Given the description of an element on the screen output the (x, y) to click on. 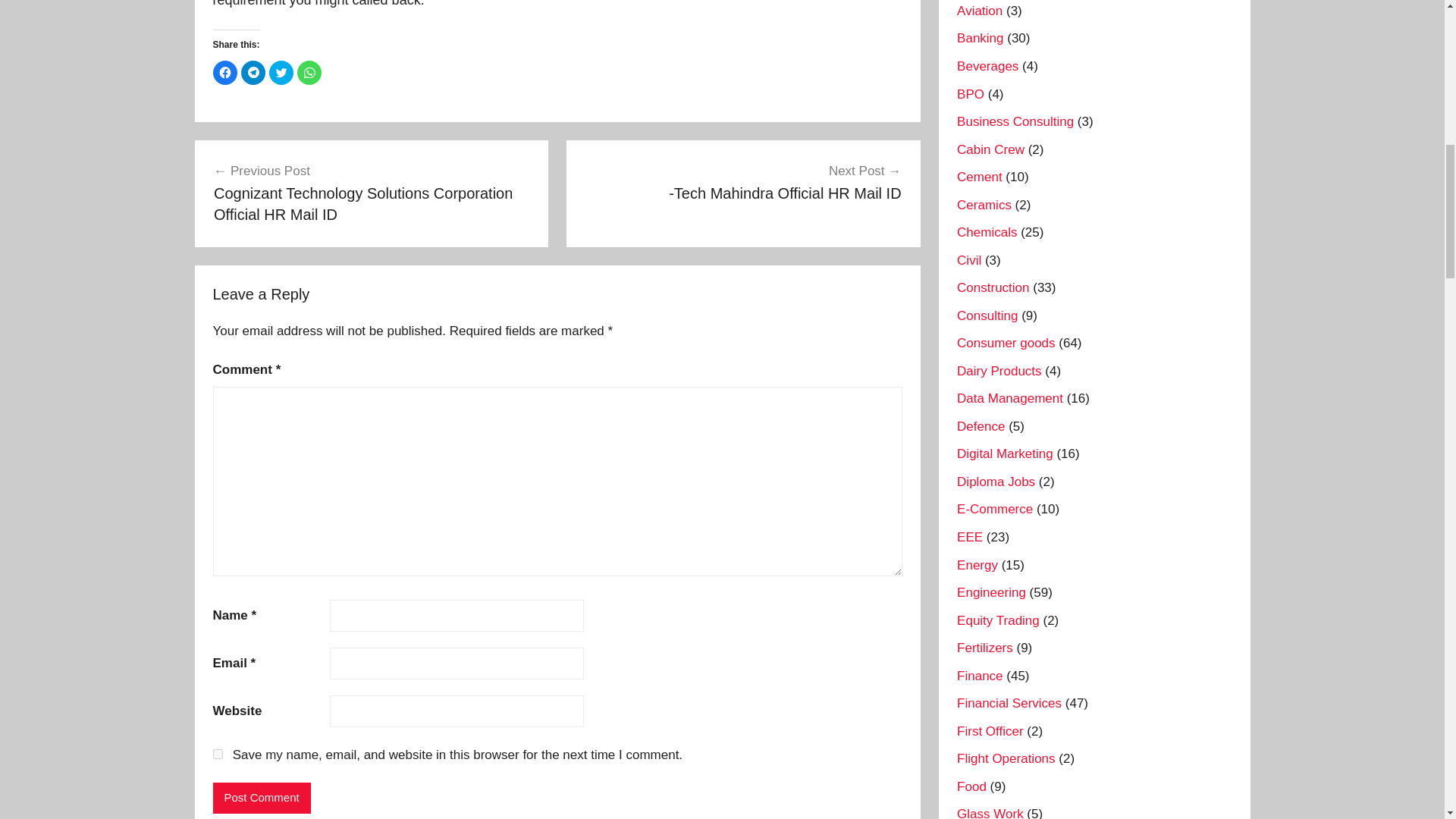
Post Comment (261, 798)
Click to share on WhatsApp (309, 72)
Click to share on Telegram (252, 72)
yes (217, 754)
Click to share on Twitter (279, 72)
Click to share on Facebook (223, 72)
